Given the description of an element on the screen output the (x, y) to click on. 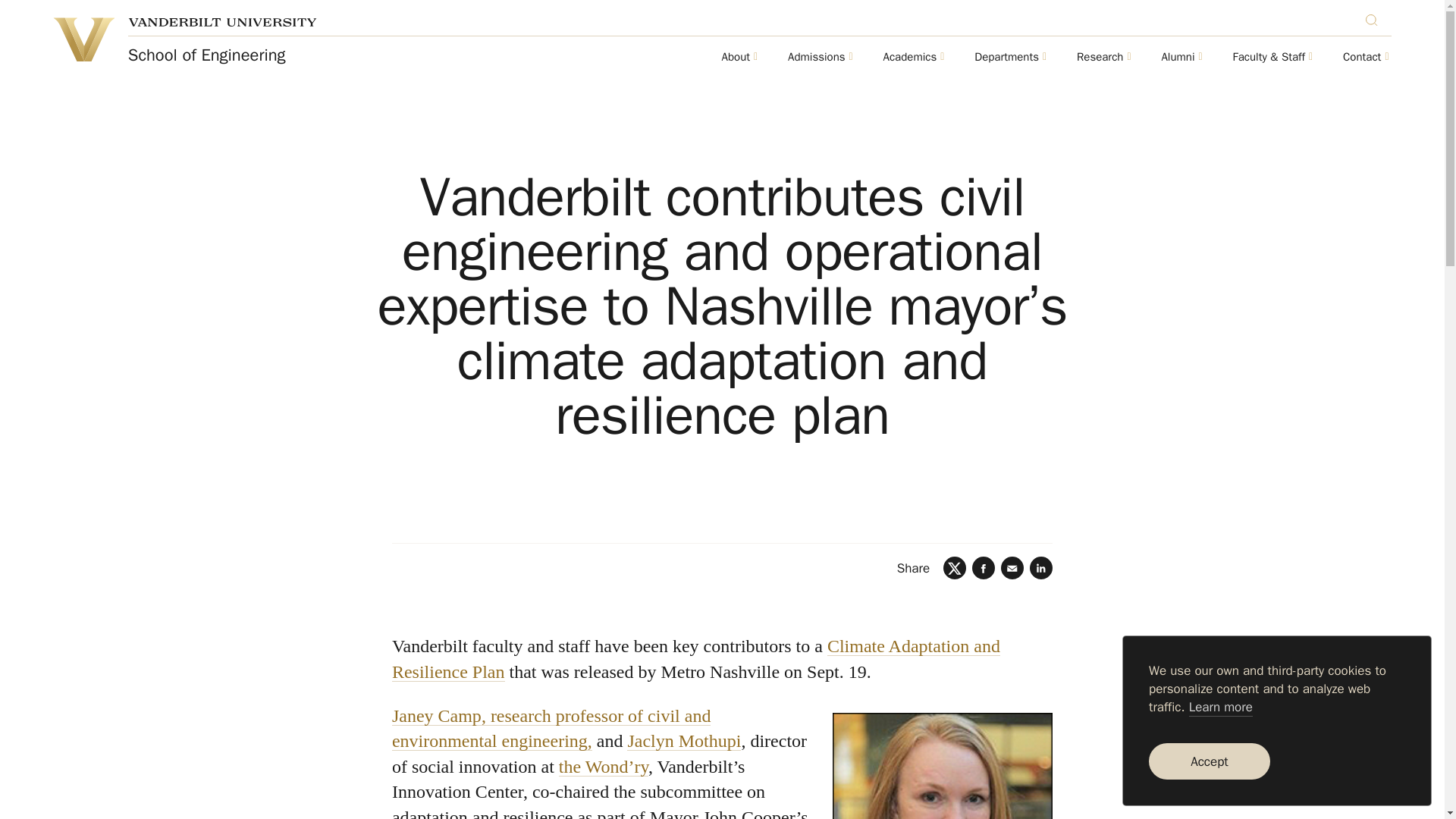
Academics (910, 57)
Research (1099, 57)
School of Engineering (206, 55)
About (735, 57)
Accept (1208, 760)
Departments (1006, 57)
Admissions (816, 57)
Alumni (1176, 57)
Vanderbilt University (222, 21)
Vanderbilt University (83, 39)
